Given the description of an element on the screen output the (x, y) to click on. 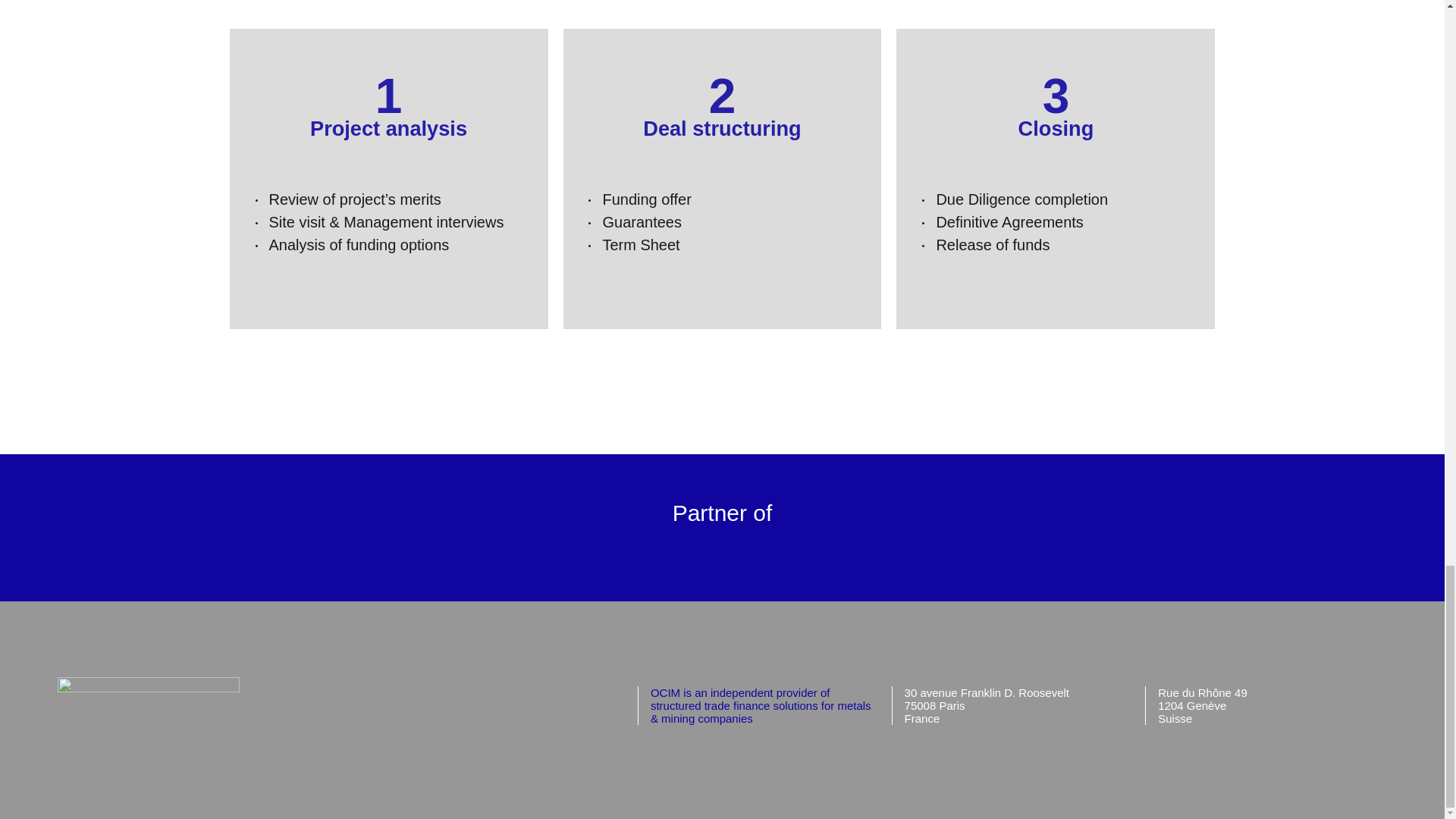
OCIM (149, 687)
